Given the description of an element on the screen output the (x, y) to click on. 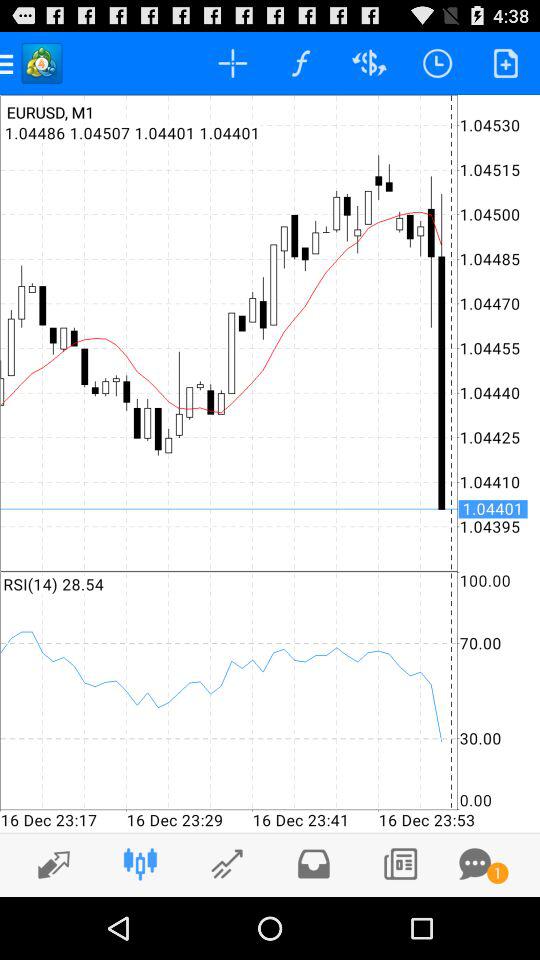
check inbox (313, 863)
